Given the description of an element on the screen output the (x, y) to click on. 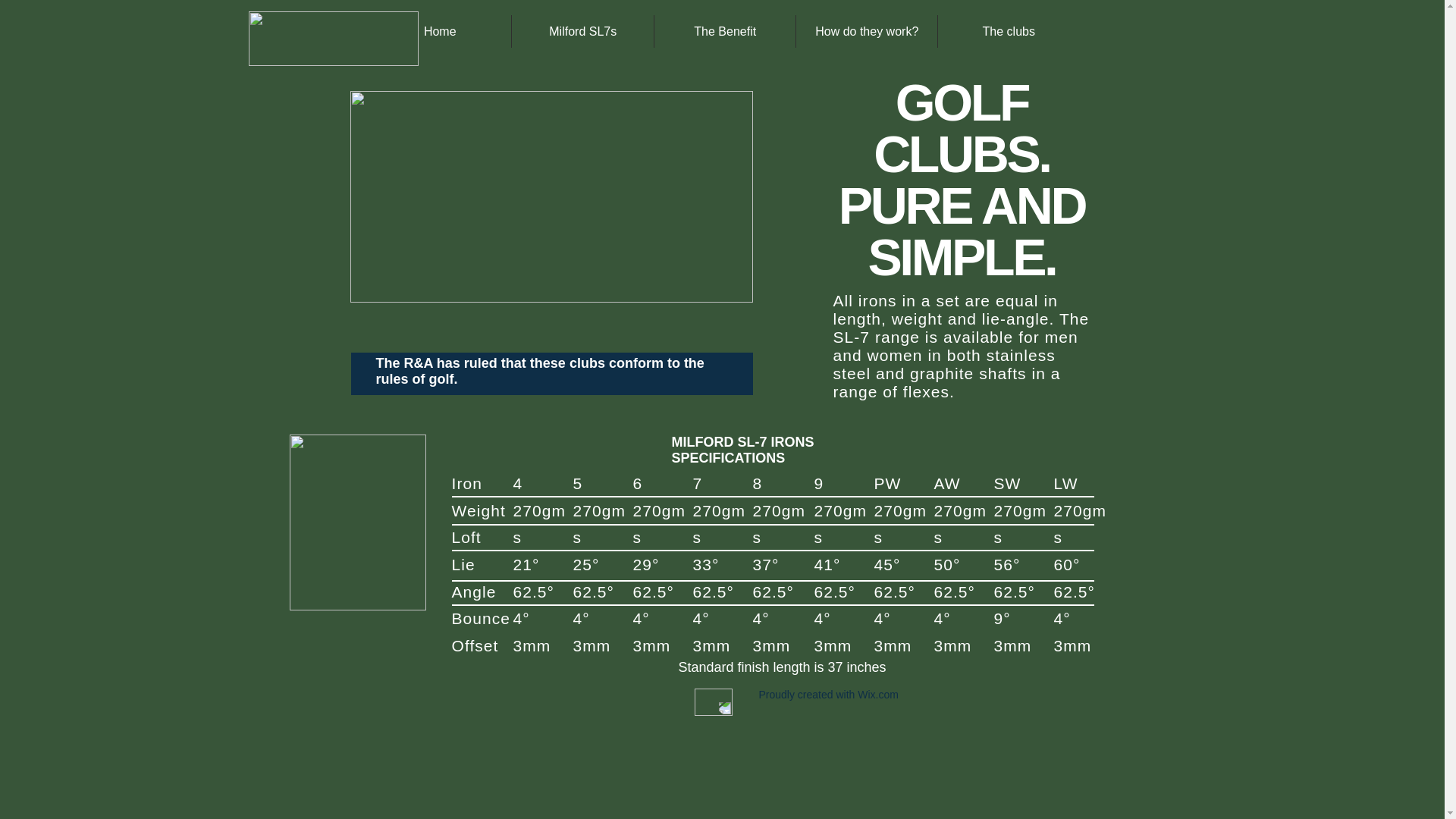
Milford SL7s Element type: text (582, 31)
Home Element type: text (439, 31)
How do they work? Element type: text (866, 31)
Wix.com Element type: text (877, 694)
The Benefit Element type: text (724, 31)
